Given the description of an element on the screen output the (x, y) to click on. 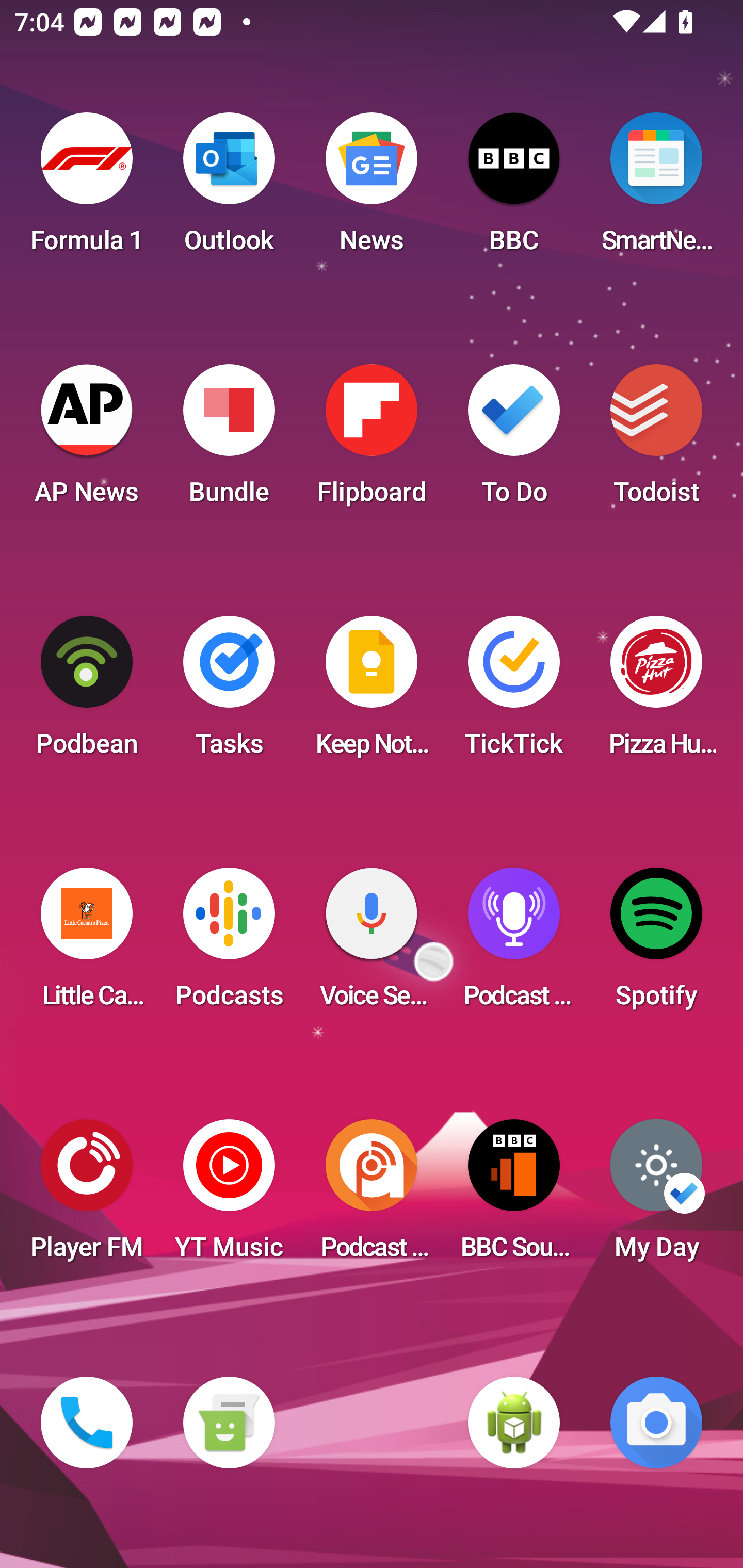
Formula 1 (86, 188)
Outlook (228, 188)
News (371, 188)
BBC (513, 188)
SmartNews (656, 188)
AP News (86, 440)
Bundle (228, 440)
Flipboard (371, 440)
To Do (513, 440)
Todoist (656, 440)
Podbean (86, 692)
Tasks (228, 692)
Keep Notes (371, 692)
TickTick (513, 692)
Pizza Hut HK & Macau (656, 692)
Little Caesars Pizza (86, 943)
Podcasts (228, 943)
Voice Search (371, 943)
Podcast Player (513, 943)
Spotify (656, 943)
Player FM (86, 1195)
YT Music (228, 1195)
Podcast Addict (371, 1195)
BBC Sounds (513, 1195)
My Day (656, 1195)
Phone (86, 1422)
Messaging (228, 1422)
WebView Browser Tester (513, 1422)
Camera (656, 1422)
